Given the description of an element on the screen output the (x, y) to click on. 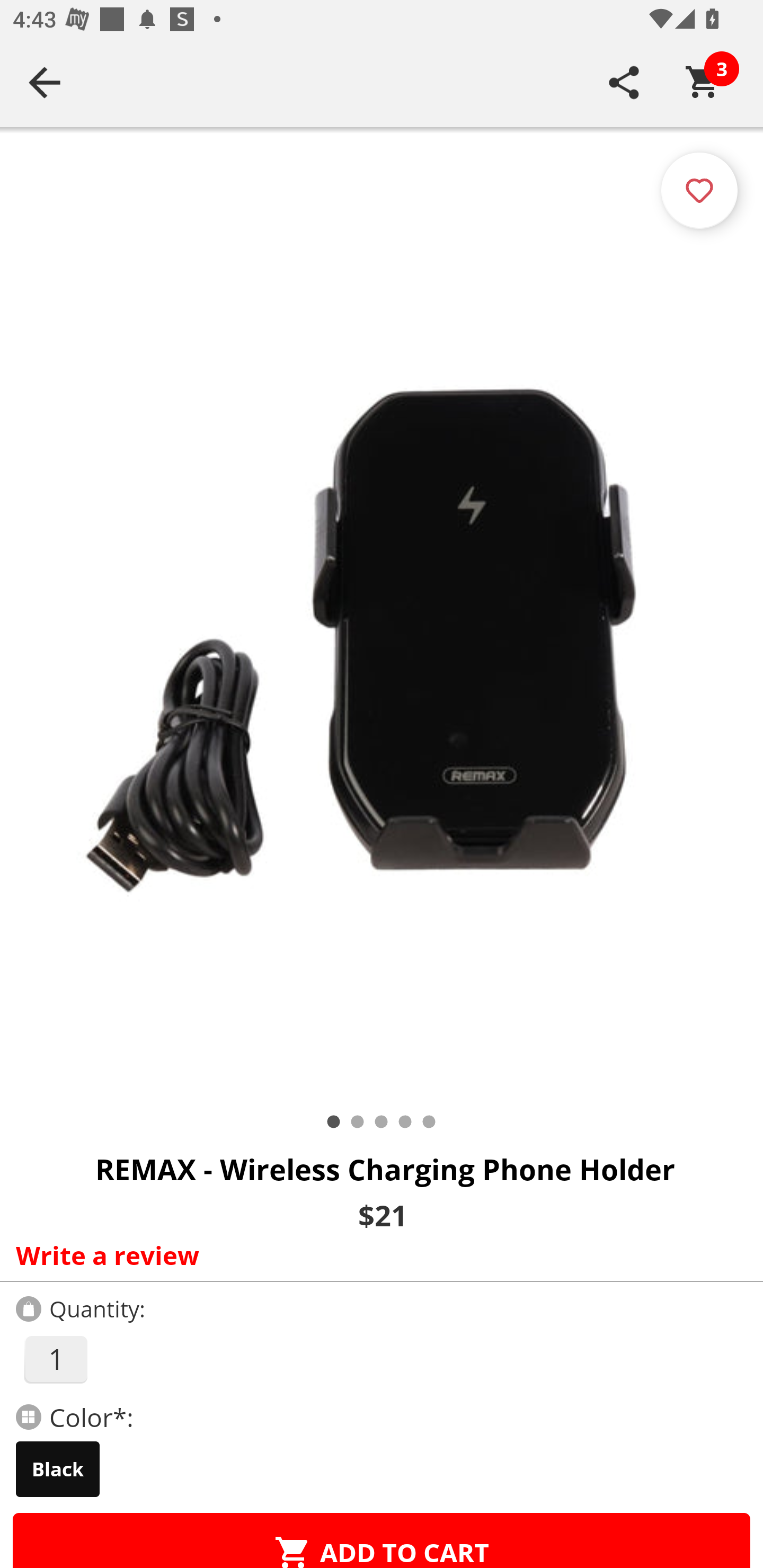
Navigate up (44, 82)
SHARE (623, 82)
Cart (703, 81)
Write a review (377, 1255)
1 (55, 1358)
Black (57, 1468)
ADD TO CART (381, 1540)
